Given the description of an element on the screen output the (x, y) to click on. 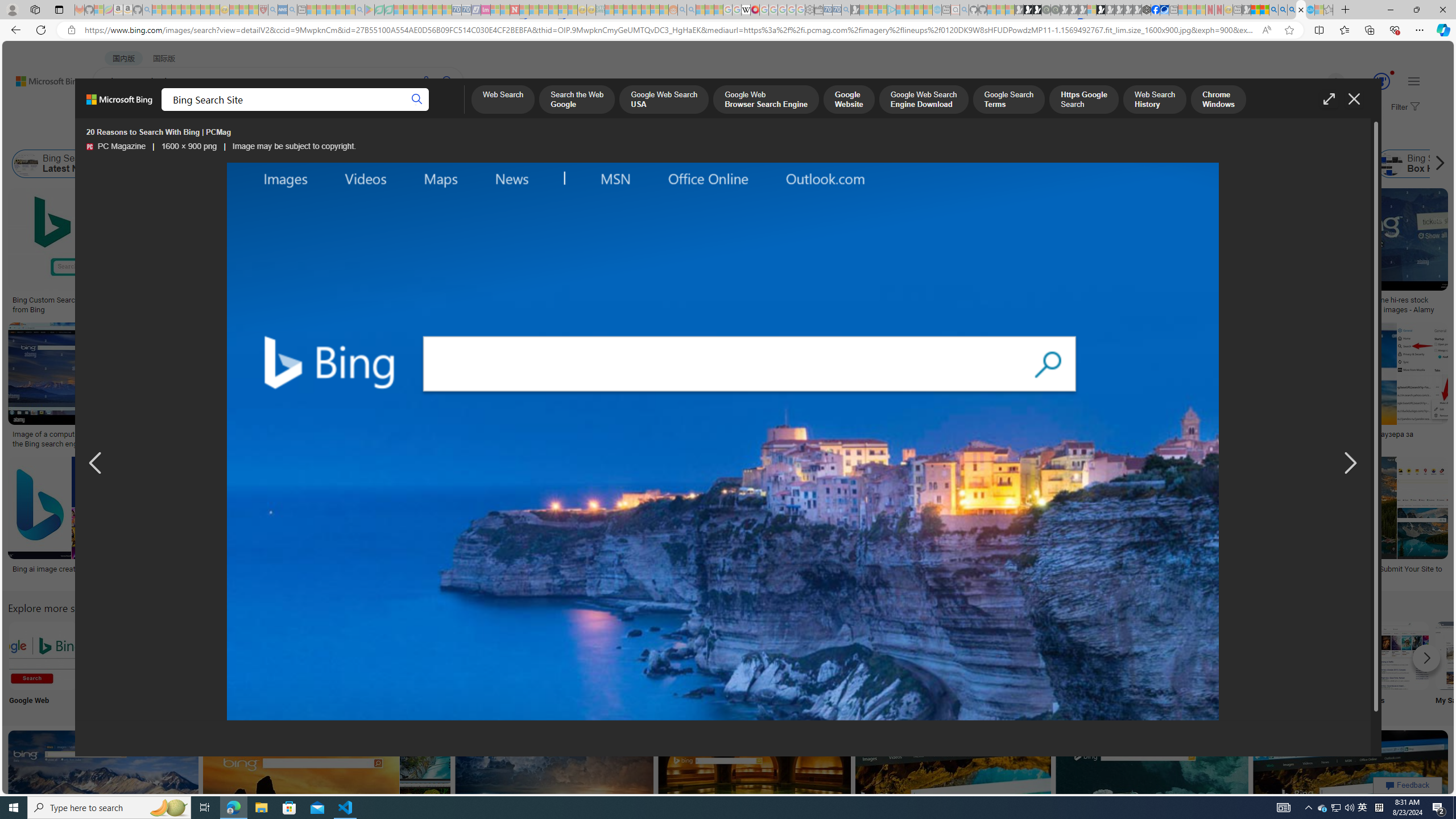
Bing Search Dark Mode (342, 654)
Bing Home Screen (355, 163)
License (378, 135)
Bing the Search Engine (868, 654)
WEB (114, 111)
Bing Advanced Search Tricks You Should Know (457, 299)
Bing Search Tips (718, 654)
Close image (1352, 99)
